Given the description of an element on the screen output the (x, y) to click on. 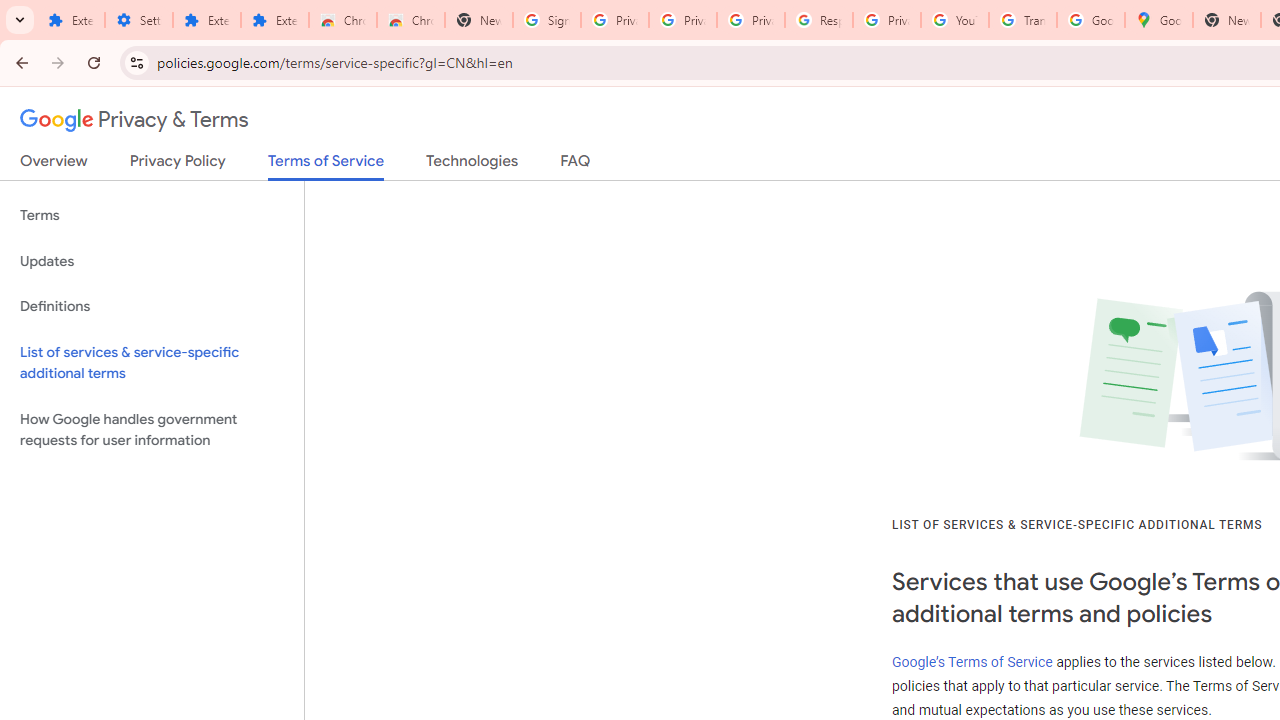
Extensions (274, 20)
Extensions (70, 20)
Chrome Web Store (342, 20)
YouTube (954, 20)
